Given the description of an element on the screen output the (x, y) to click on. 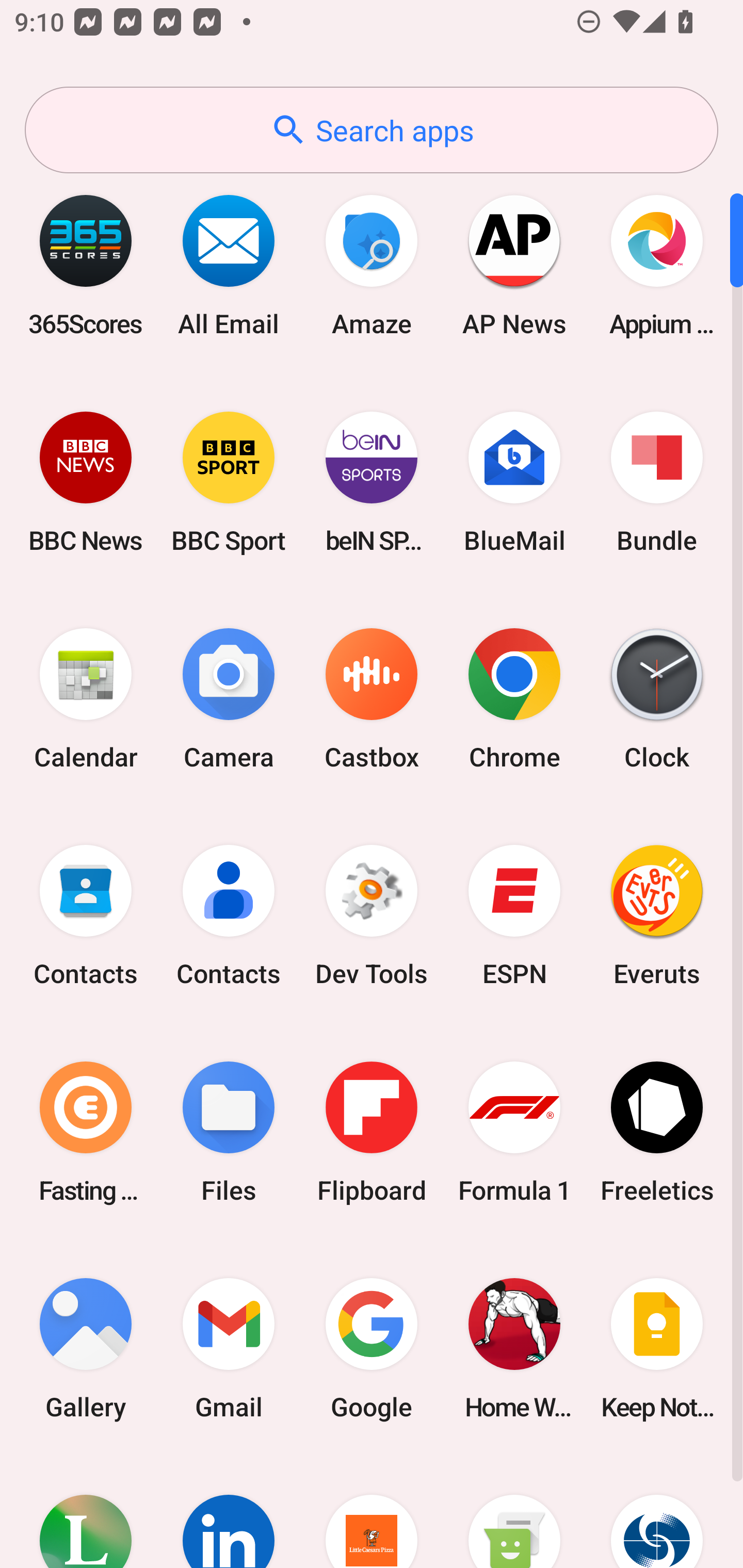
  Search apps (371, 130)
365Scores (85, 264)
All Email (228, 264)
Amaze (371, 264)
AP News (514, 264)
Appium Settings (656, 264)
BBC News (85, 482)
BBC Sport (228, 482)
beIN SPORTS (371, 482)
BlueMail (514, 482)
Bundle (656, 482)
Calendar (85, 699)
Camera (228, 699)
Castbox (371, 699)
Chrome (514, 699)
Clock (656, 699)
Contacts (85, 915)
Contacts (228, 915)
Dev Tools (371, 915)
ESPN (514, 915)
Everuts (656, 915)
Fasting Coach (85, 1131)
Files (228, 1131)
Flipboard (371, 1131)
Formula 1 (514, 1131)
Freeletics (656, 1131)
Gallery (85, 1348)
Gmail (228, 1348)
Google (371, 1348)
Home Workout (514, 1348)
Keep Notes (656, 1348)
